Given the description of an element on the screen output the (x, y) to click on. 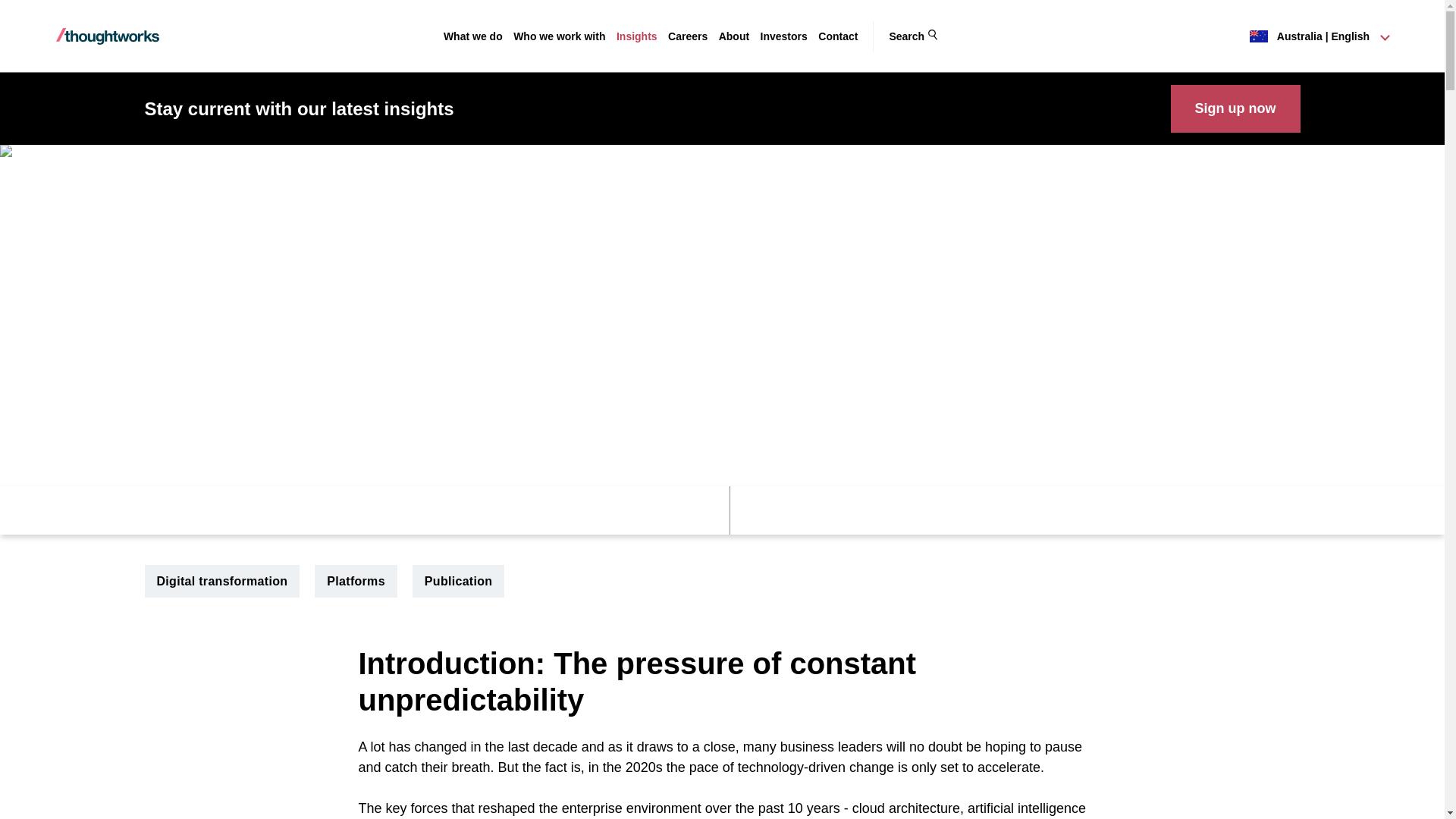
Careers (687, 36)
Insights (636, 36)
Who we work with (559, 36)
What we do (473, 36)
Thoughtworks (107, 36)
Thoughtworks (107, 36)
Who we work with (559, 36)
Careers (687, 36)
What we do (473, 36)
Insights (636, 36)
